Given the description of an element on the screen output the (x, y) to click on. 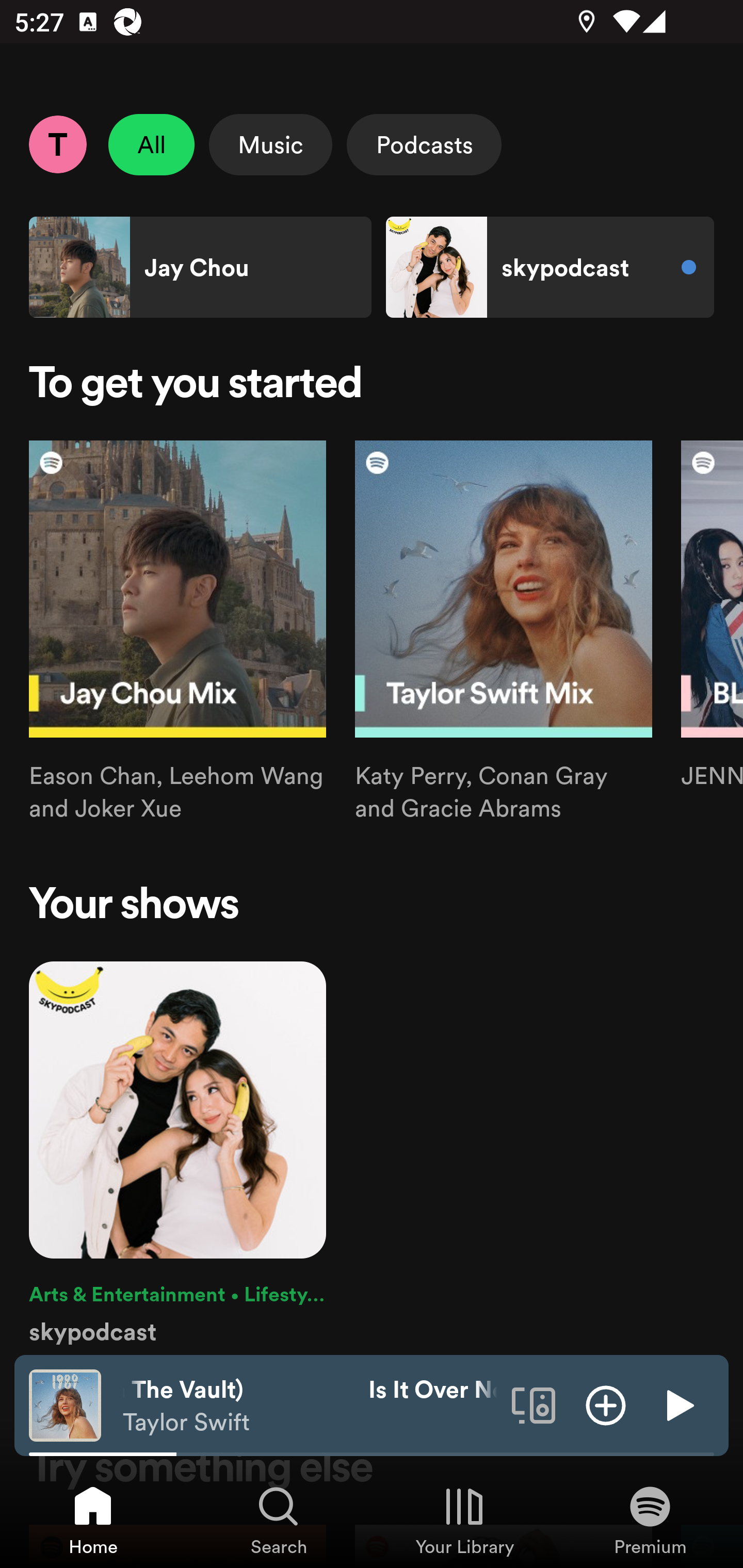
Profile (57, 144)
All Unselect All (151, 144)
Music Select Music (270, 144)
Podcasts Select Podcasts (423, 144)
Jay Chou Shortcut Jay Chou (199, 267)
skypodcast Shortcut skypodcast New content (549, 267)
The cover art of the currently playing track (64, 1404)
Connect to a device. Opens the devices menu (533, 1404)
Add item (605, 1404)
Play (677, 1404)
Home, Tab 1 of 4 Home Home (92, 1519)
Search, Tab 2 of 4 Search Search (278, 1519)
Your Library, Tab 3 of 4 Your Library Your Library (464, 1519)
Premium, Tab 4 of 4 Premium Premium (650, 1519)
